Given the description of an element on the screen output the (x, y) to click on. 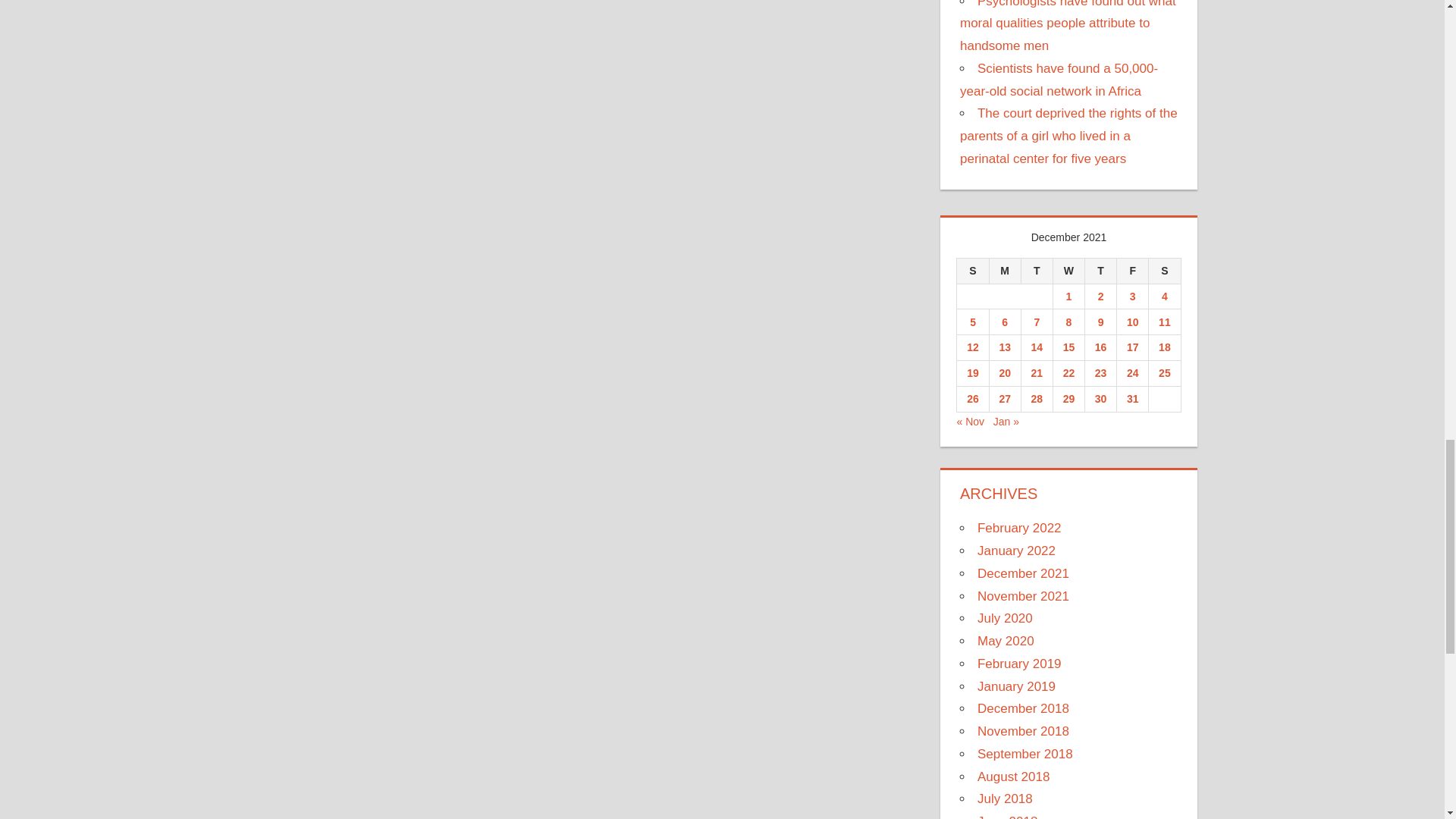
Monday (1004, 270)
Friday (1132, 270)
Tuesday (1036, 270)
Sunday (972, 270)
Saturday (1164, 270)
Wednesday (1068, 270)
Thursday (1100, 270)
